Given the description of an element on the screen output the (x, y) to click on. 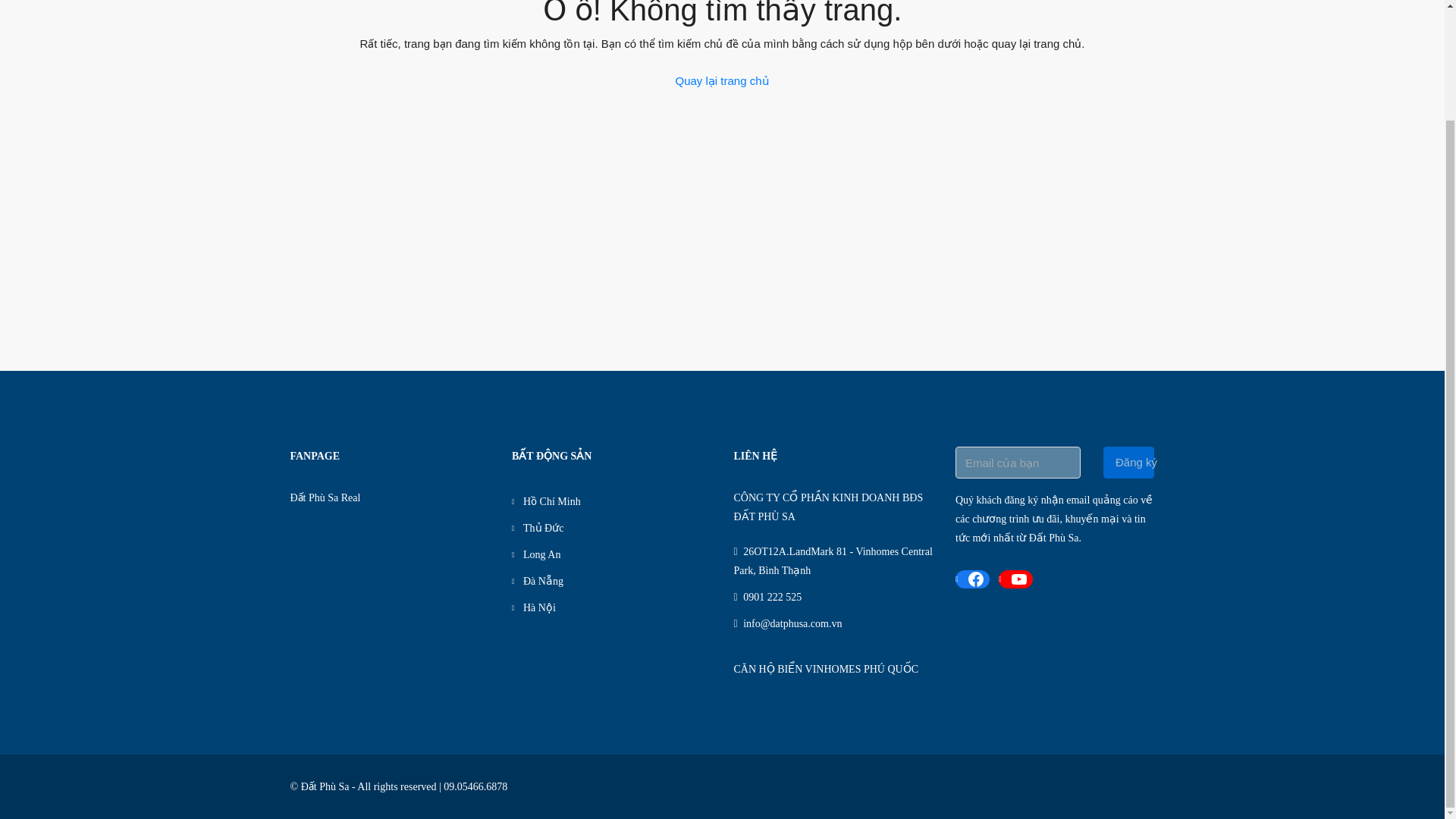
YouTube (1015, 579)
Long An (536, 554)
Facebook (972, 579)
